Given the description of an element on the screen output the (x, y) to click on. 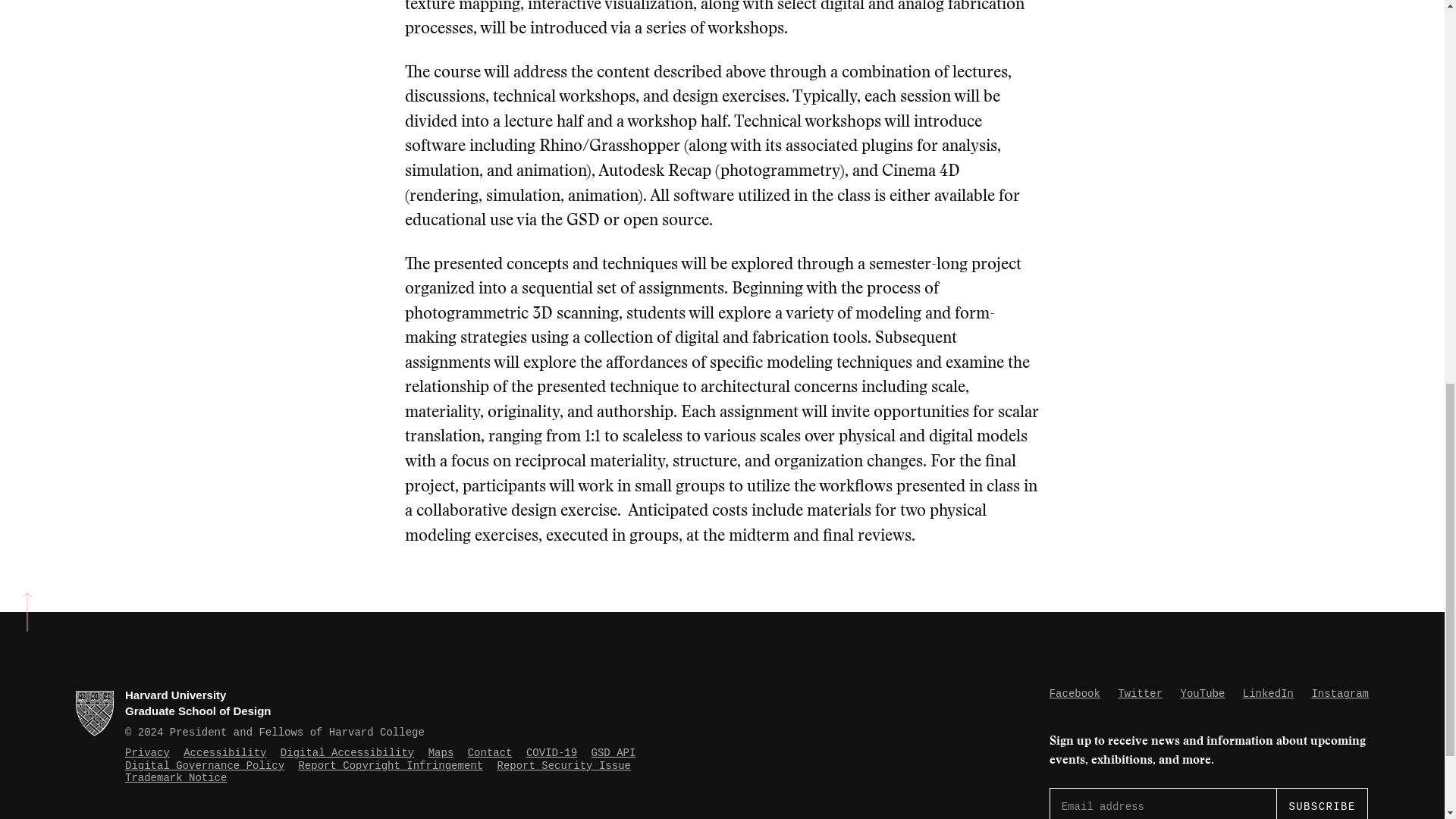
Subscribe (1321, 803)
